Given the description of an element on the screen output the (x, y) to click on. 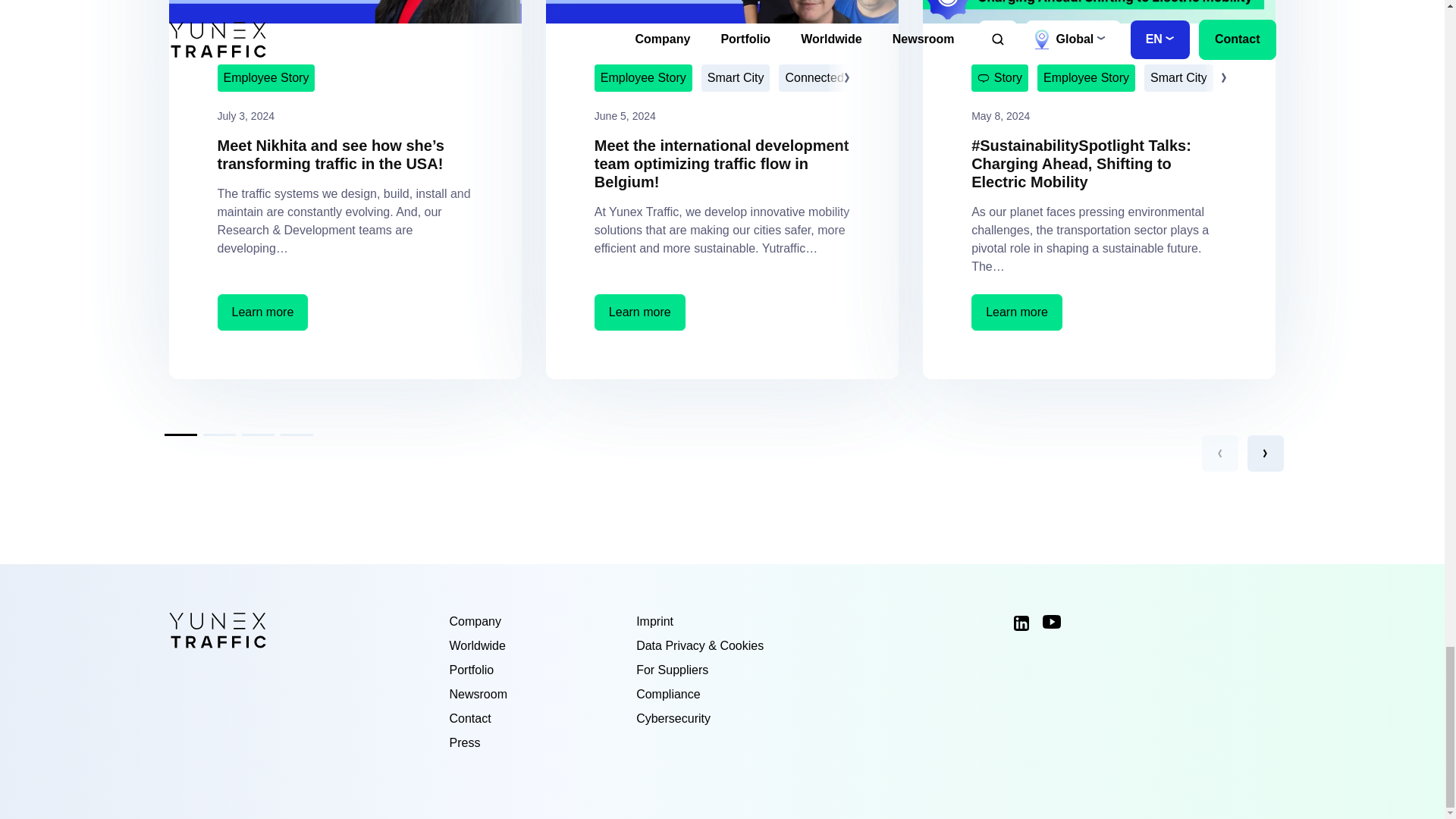
Next tags (1217, 77)
Next tags (840, 77)
